Given the description of an element on the screen output the (x, y) to click on. 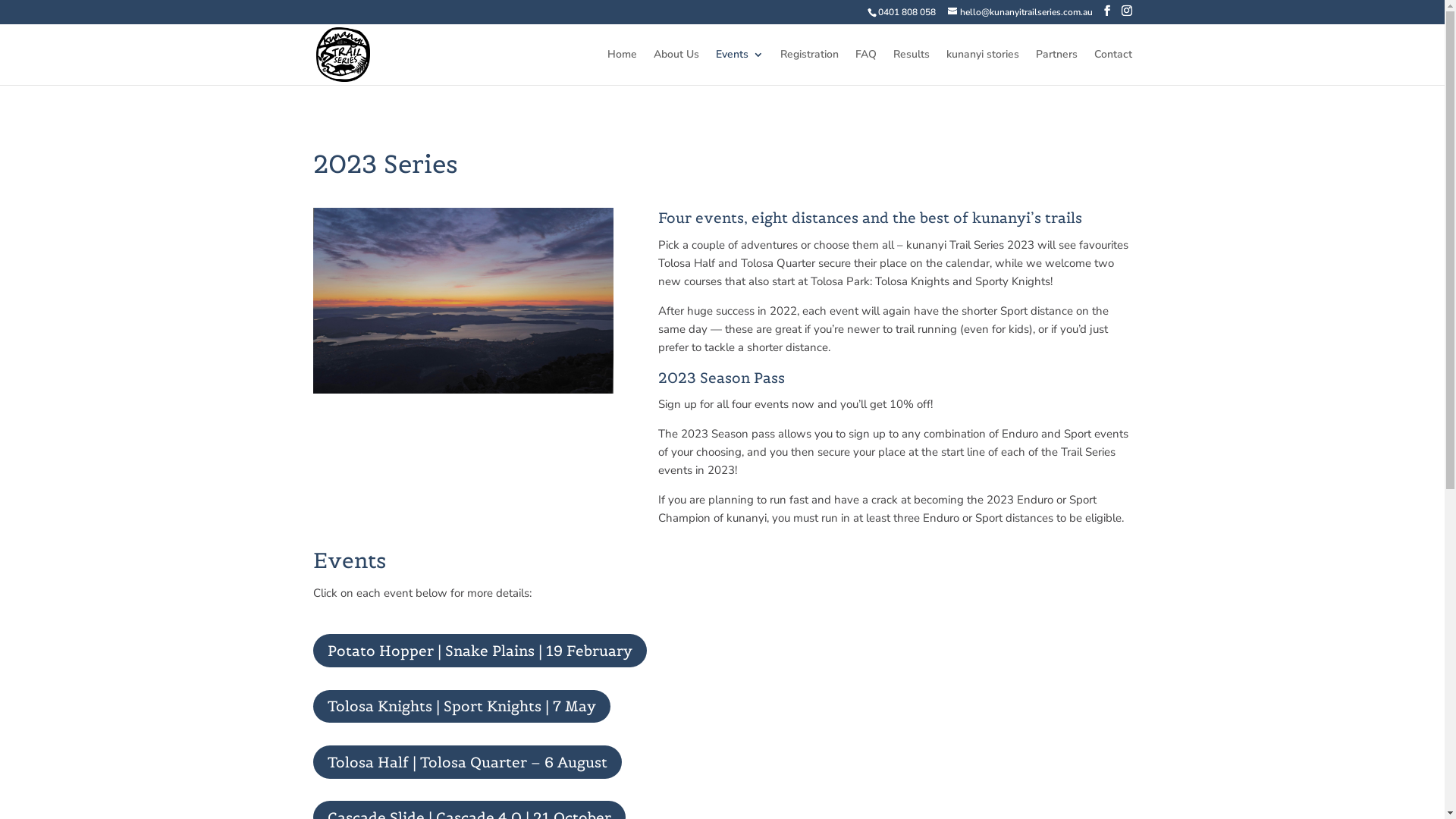
kunanyi stories Element type: text (982, 66)
Home Element type: text (621, 66)
Registration Element type: text (808, 66)
Results Element type: text (911, 66)
FAQ Element type: text (865, 66)
About Us Element type: text (676, 66)
Partners Element type: text (1056, 66)
Tolosa Knights | Sport Knights | 7 May Element type: text (460, 706)
Events Element type: text (739, 66)
Potato Hopper | Snake Plains | 19 February Element type: text (479, 650)
Contact Element type: text (1112, 66)
hello@kunanyitrailseries.com.au Element type: text (1019, 12)
